Given the description of an element on the screen output the (x, y) to click on. 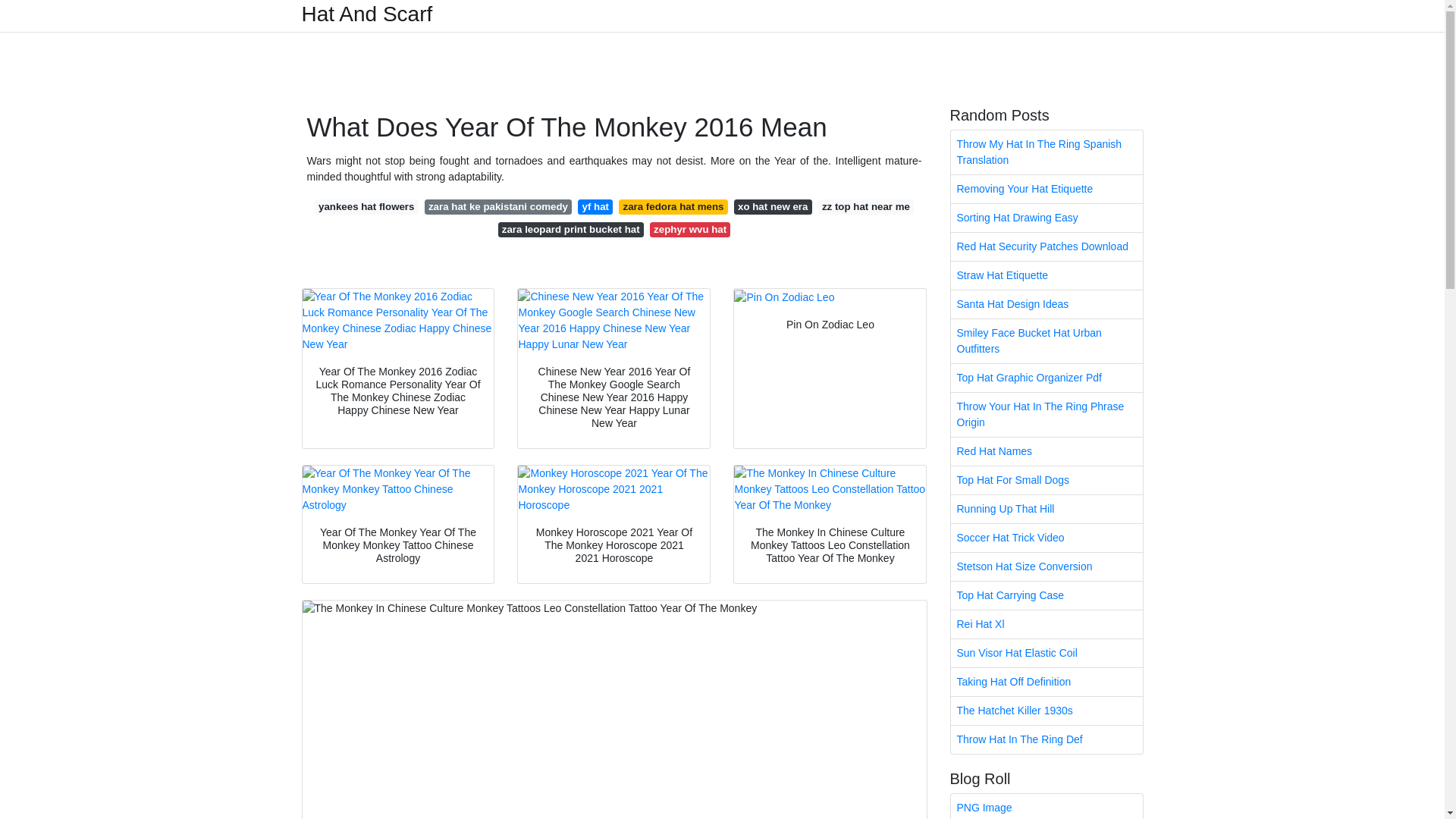
yf hat (595, 206)
zz top hat near me (866, 206)
Hat And Scarf (366, 13)
zara fedora hat mens (673, 206)
Santa Hat Design Ideas (1046, 304)
Top Hat Graphic Organizer Pdf (1046, 377)
Smiley Face Bucket Hat Urban Outfitters (1046, 341)
zara hat ke pakistani comedy (498, 206)
xo hat new era (772, 206)
Removing Your Hat Etiquette (1046, 189)
